Given the description of an element on the screen output the (x, y) to click on. 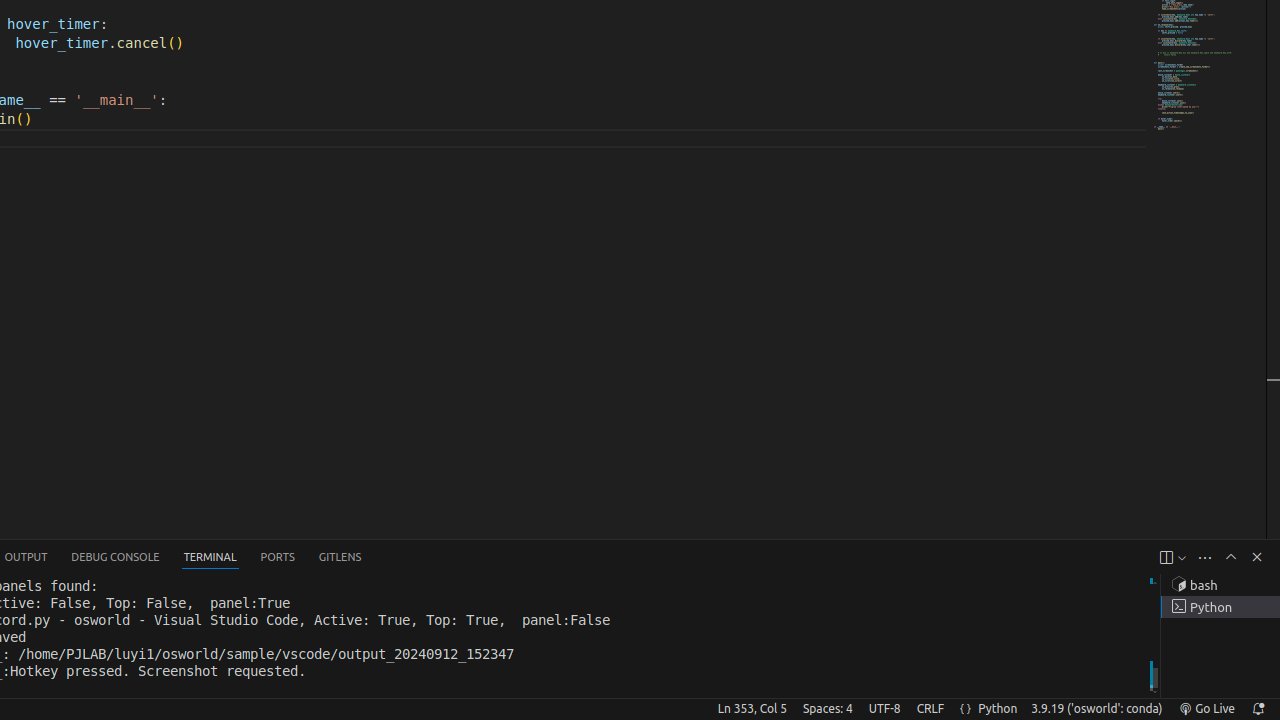
Hide Panel Element type: push-button (1257, 557)
Views and More Actions... Element type: push-button (1205, 557)
Debug Console (Ctrl+Shift+Y) Element type: page-tab (115, 557)
Python Element type: push-button (998, 709)
GitLens Element type: page-tab (340, 557)
